Given the description of an element on the screen output the (x, y) to click on. 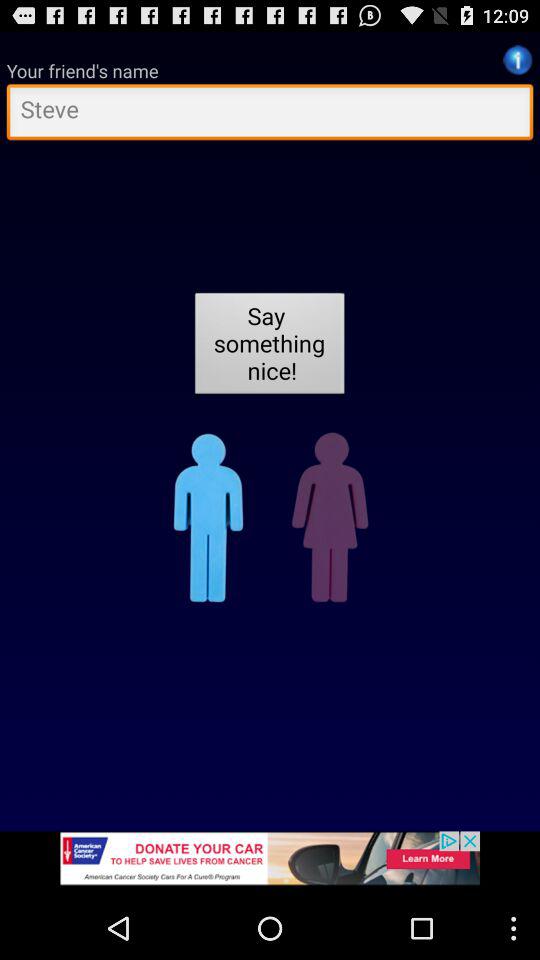
go to the advertised site (270, 864)
